Given the description of an element on the screen output the (x, y) to click on. 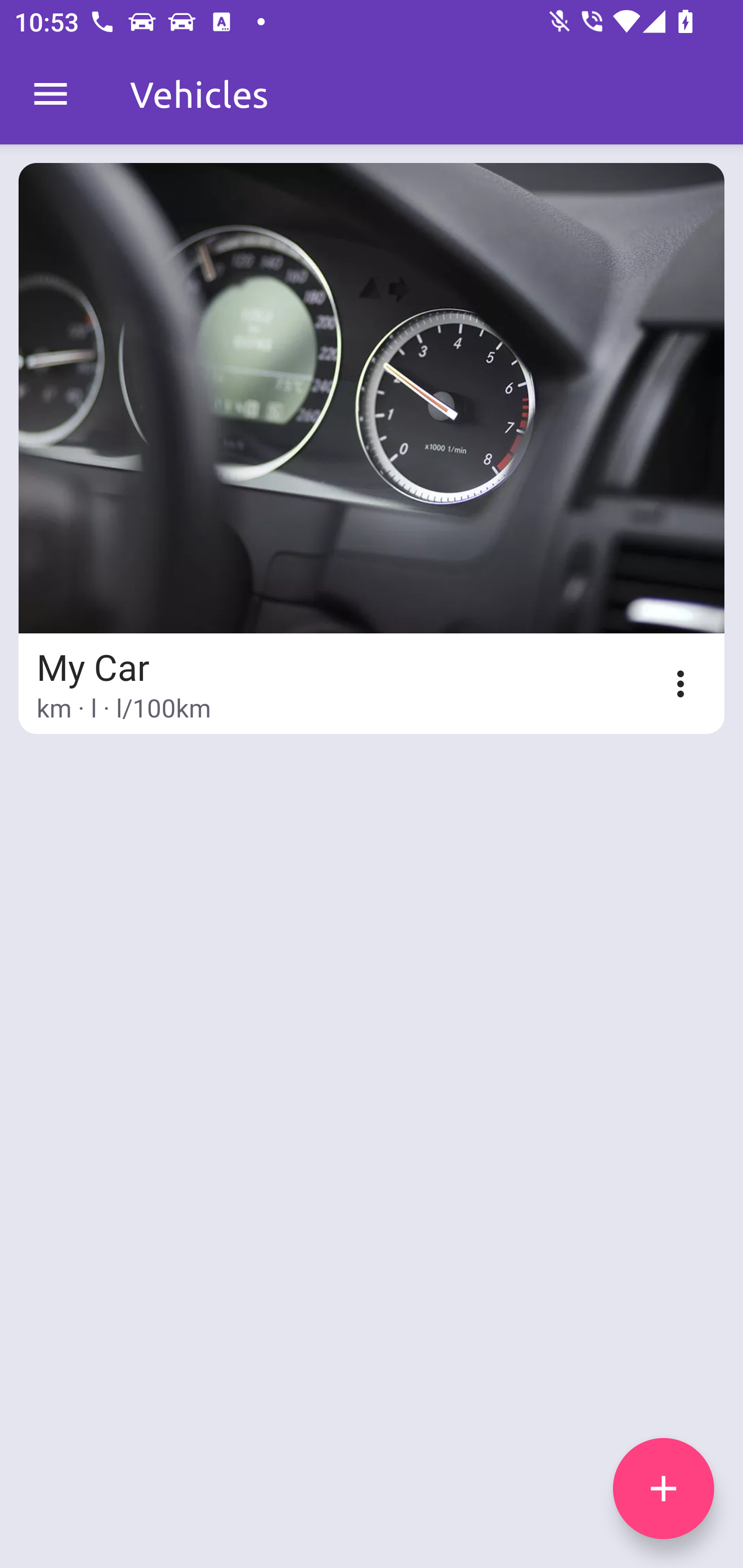
MenuDrawer (50, 93)
My Car km · l · l/100km (371, 448)
add icon (663, 1488)
